Given the description of an element on the screen output the (x, y) to click on. 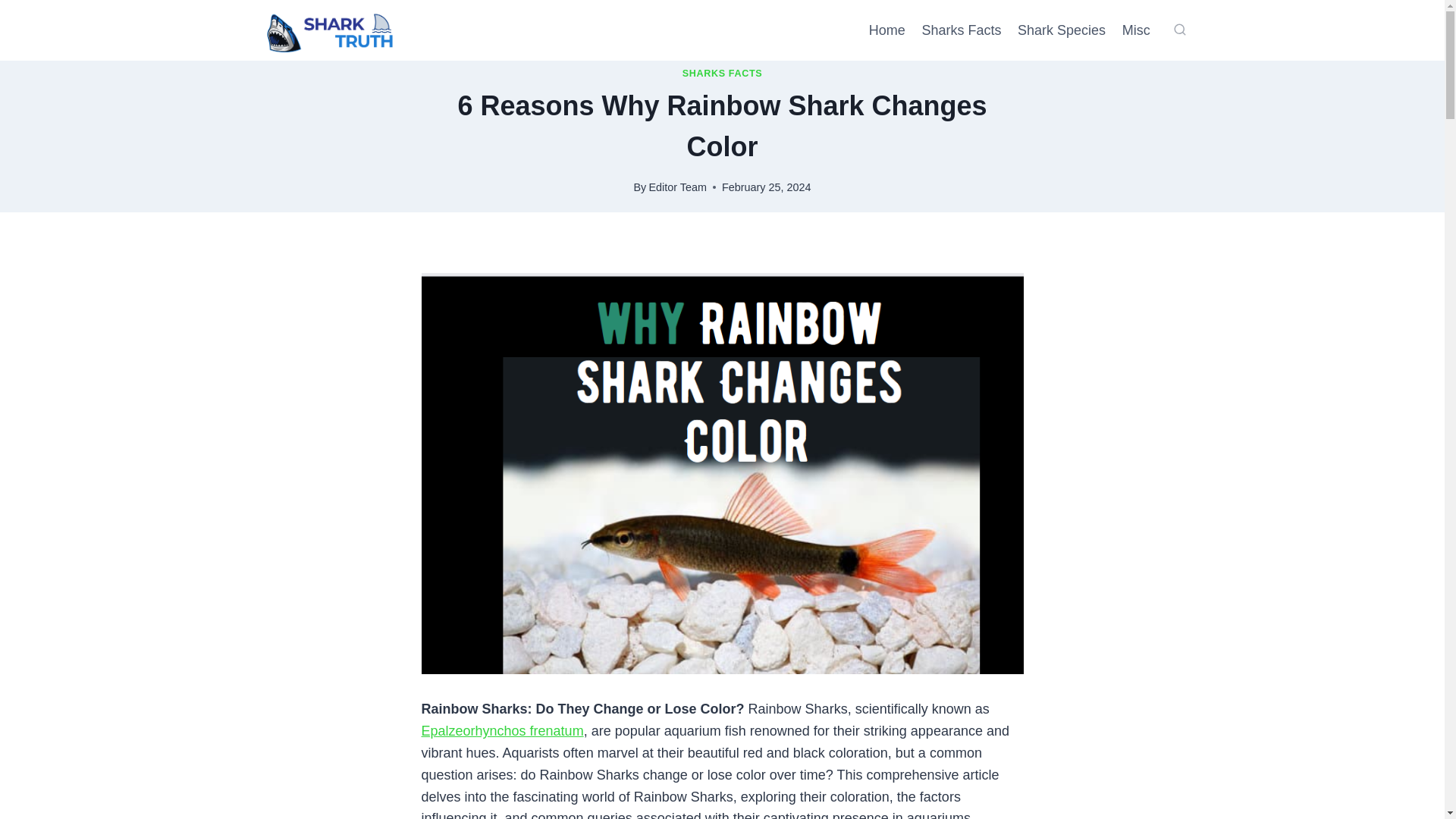
SHARKS FACTS (722, 72)
Shark Species (1061, 30)
Editor Team (676, 186)
Epalzeorhynchos frenatum (502, 730)
Sharks Facts (962, 30)
Home (887, 30)
Misc (1135, 30)
